Given the description of an element on the screen output the (x, y) to click on. 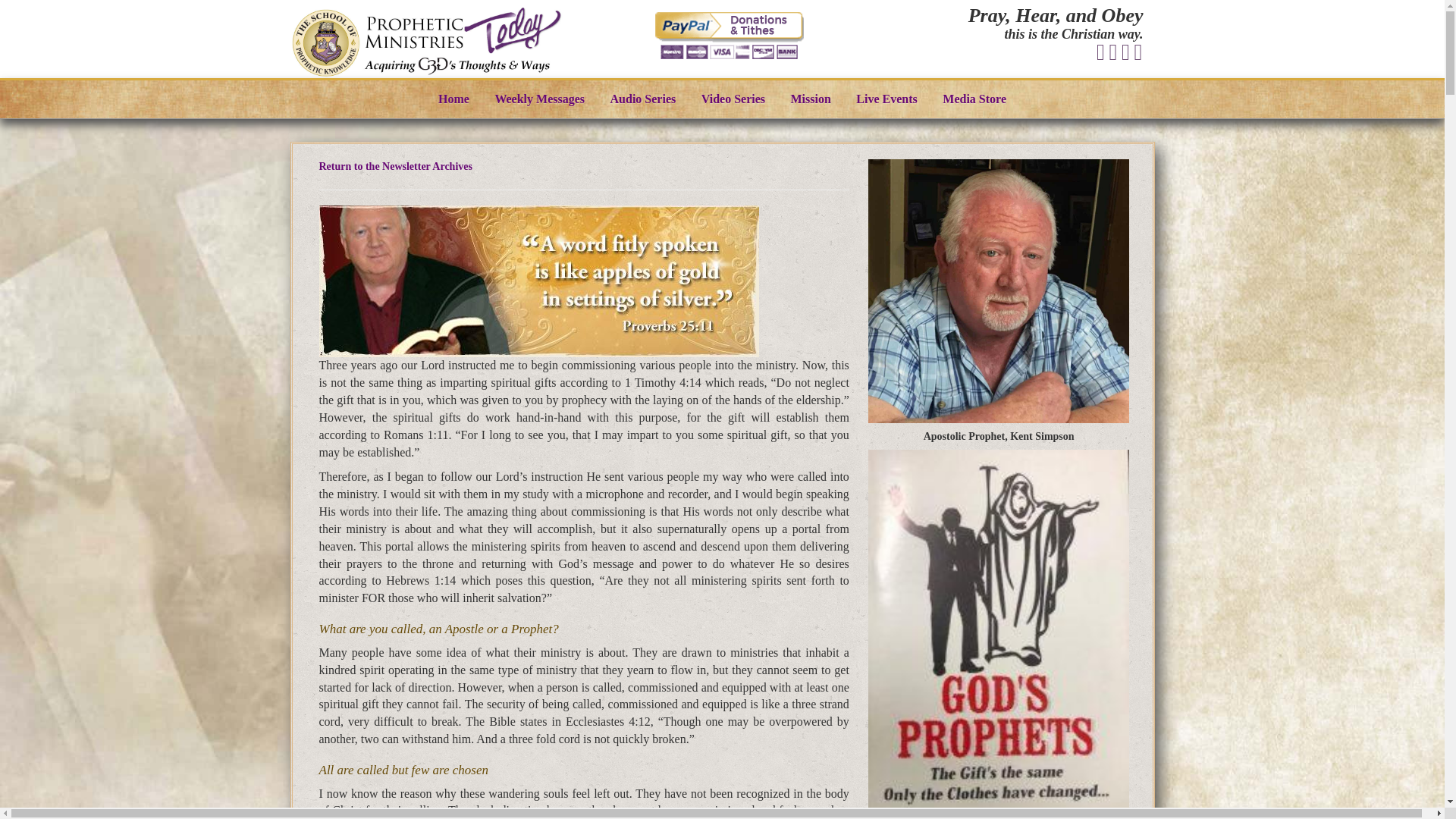
Return to the Newsletter Archives (394, 165)
unnamed (998, 290)
Audio Series (642, 98)
Prophetic Ministries (425, 42)
Home (453, 98)
Video Series (733, 98)
Weekly Messages (539, 98)
Media Store (974, 98)
Mission (810, 98)
Live Events (886, 98)
